Given the description of an element on the screen output the (x, y) to click on. 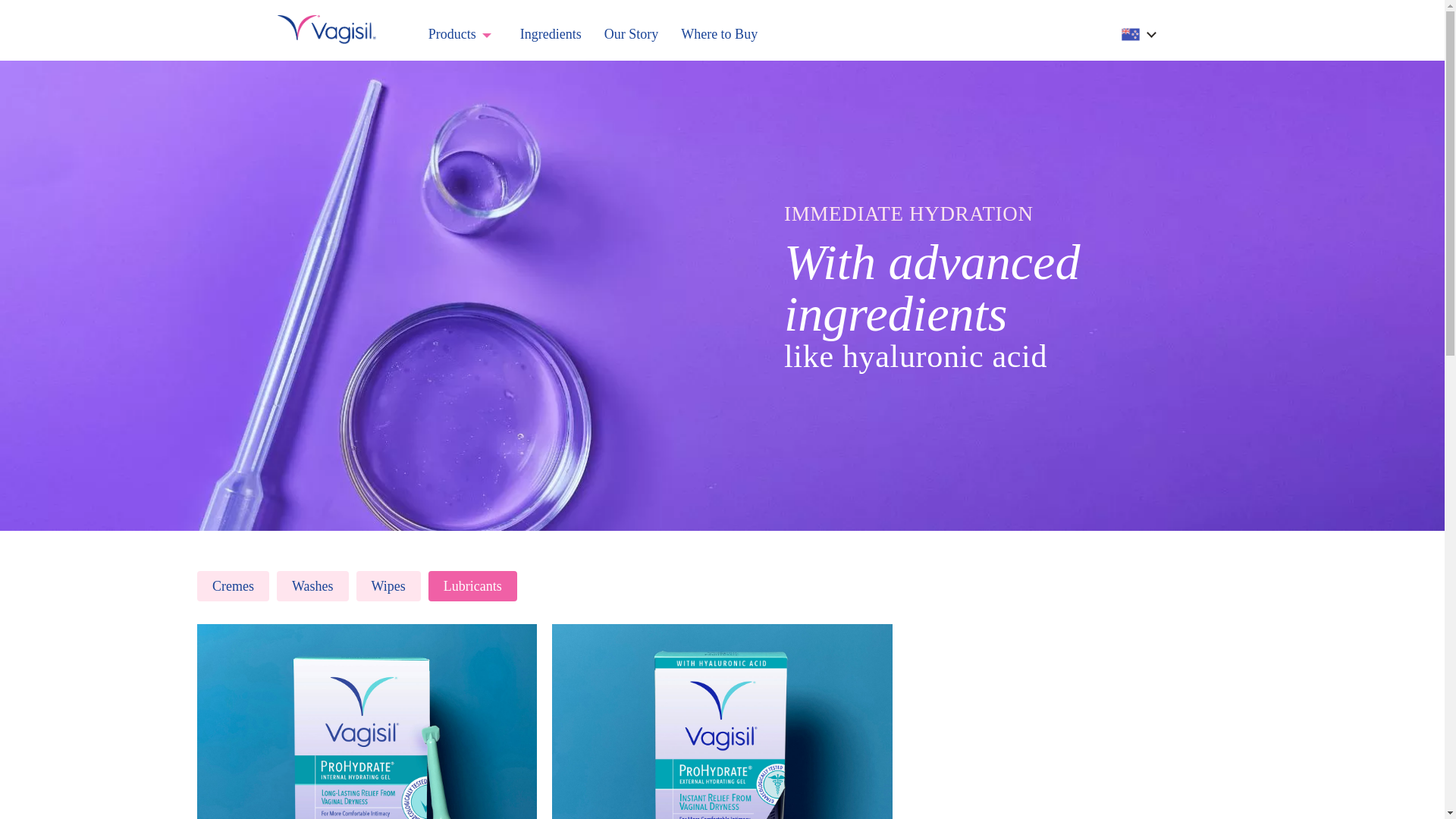
Where to Buy (719, 34)
Lubricants (472, 585)
Cremes (232, 585)
Washes (312, 585)
Wipes (388, 585)
Our Story (631, 34)
Ingredients (549, 34)
